Given the description of an element on the screen output the (x, y) to click on. 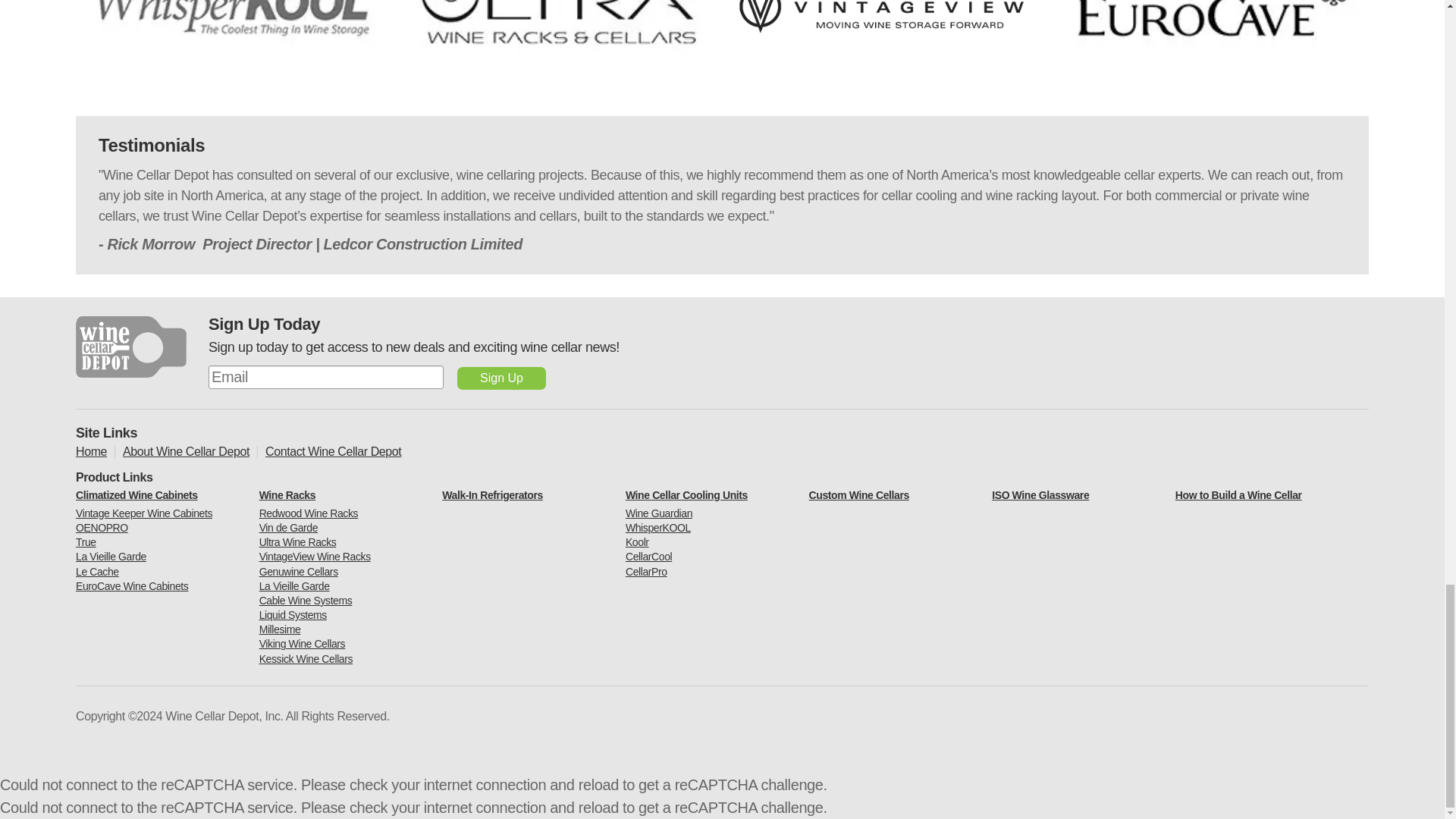
Ultra WIne Racks (558, 42)
Vintage View (886, 42)
